Given the description of an element on the screen output the (x, y) to click on. 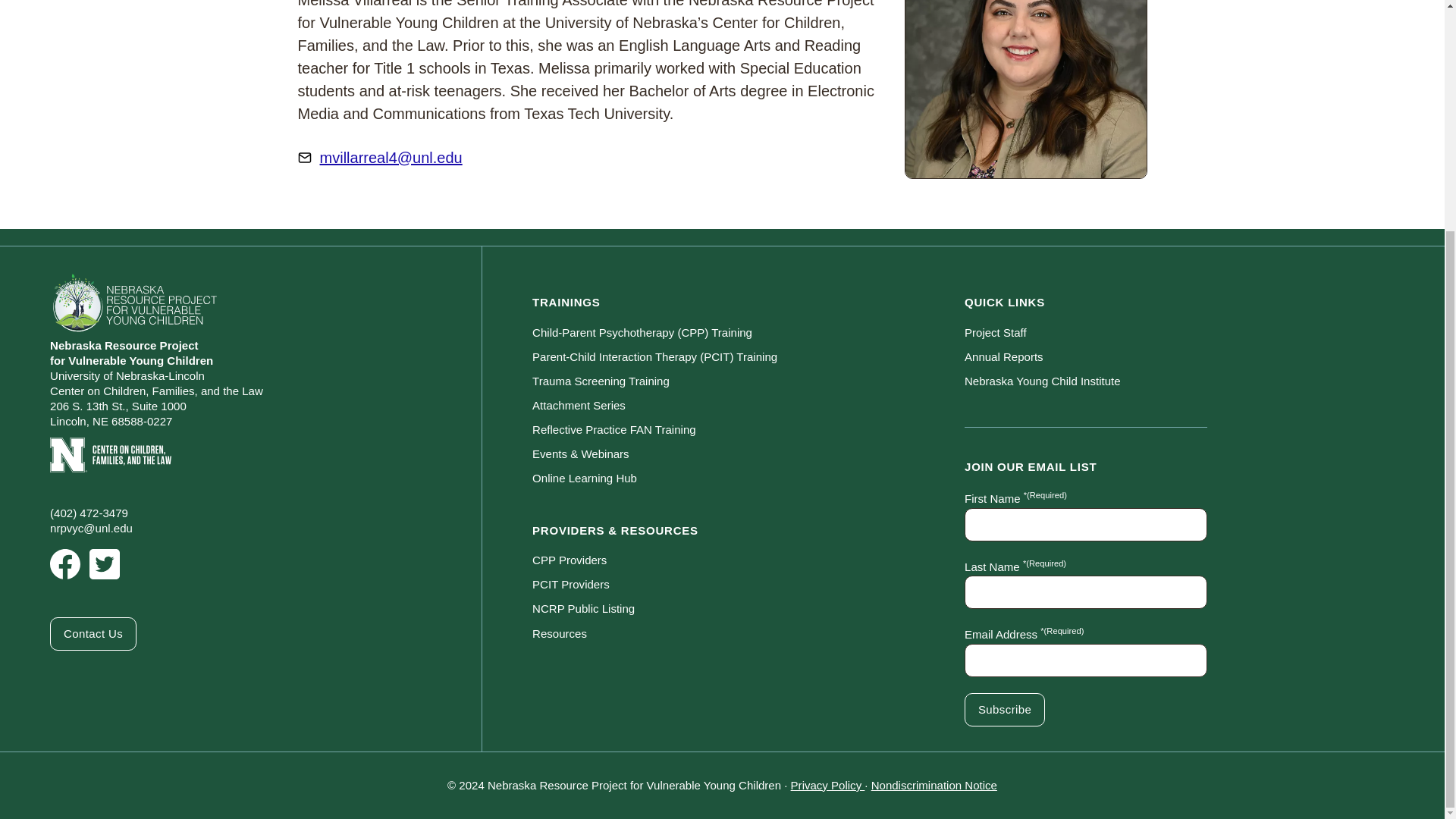
Trauma Screening Training (747, 381)
Subscribe (1004, 709)
Reflective Practice FAN Training (747, 429)
Attachment Series (747, 405)
